Given the description of an element on the screen output the (x, y) to click on. 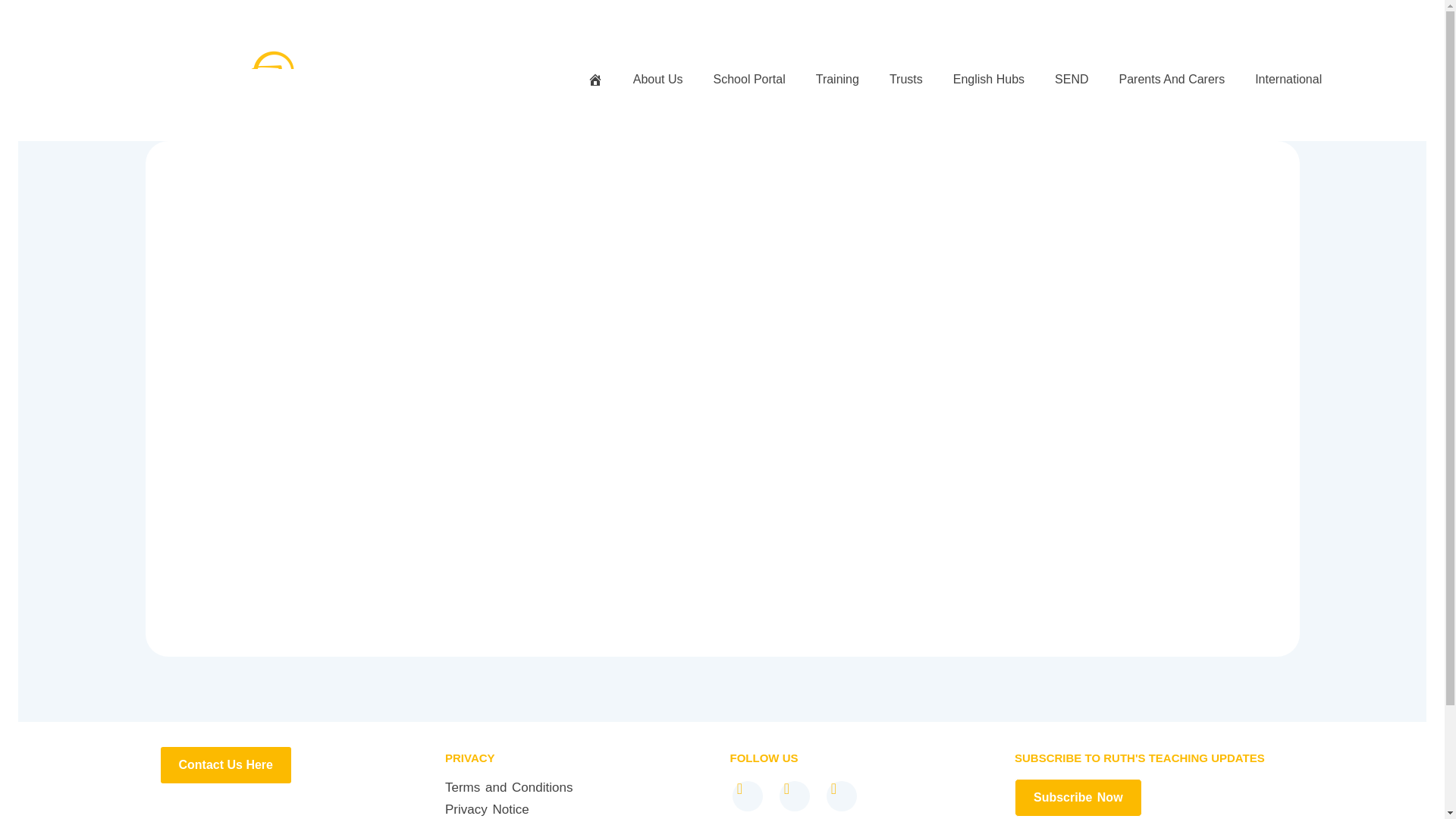
International (1288, 79)
Training (837, 79)
School Portal (749, 79)
Trusts (906, 79)
English Hubs (989, 79)
SEND (1070, 79)
Parents And Carers (1172, 79)
About Us (657, 79)
